Given the description of an element on the screen output the (x, y) to click on. 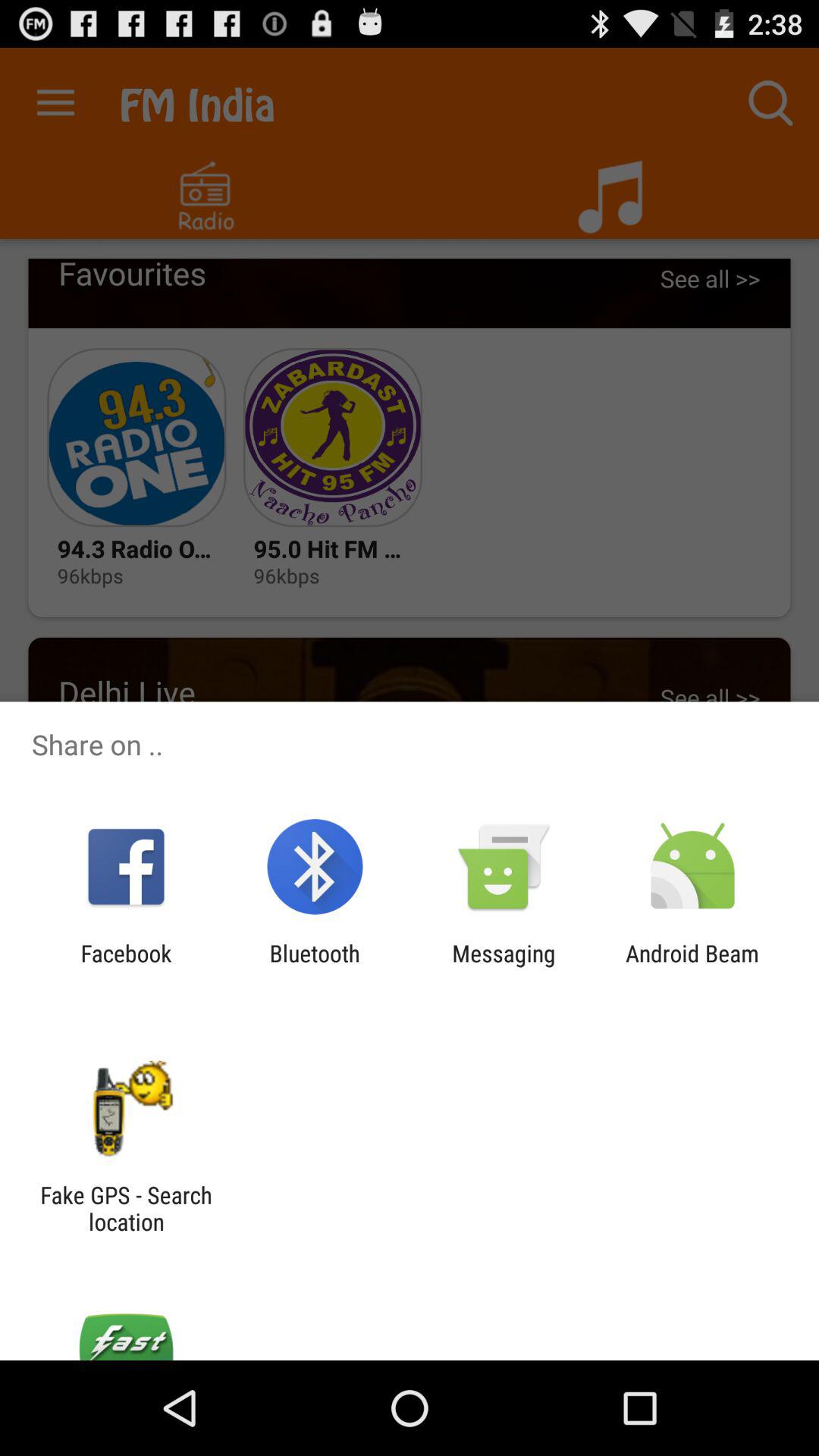
select item to the left of bluetooth app (125, 966)
